Given the description of an element on the screen output the (x, y) to click on. 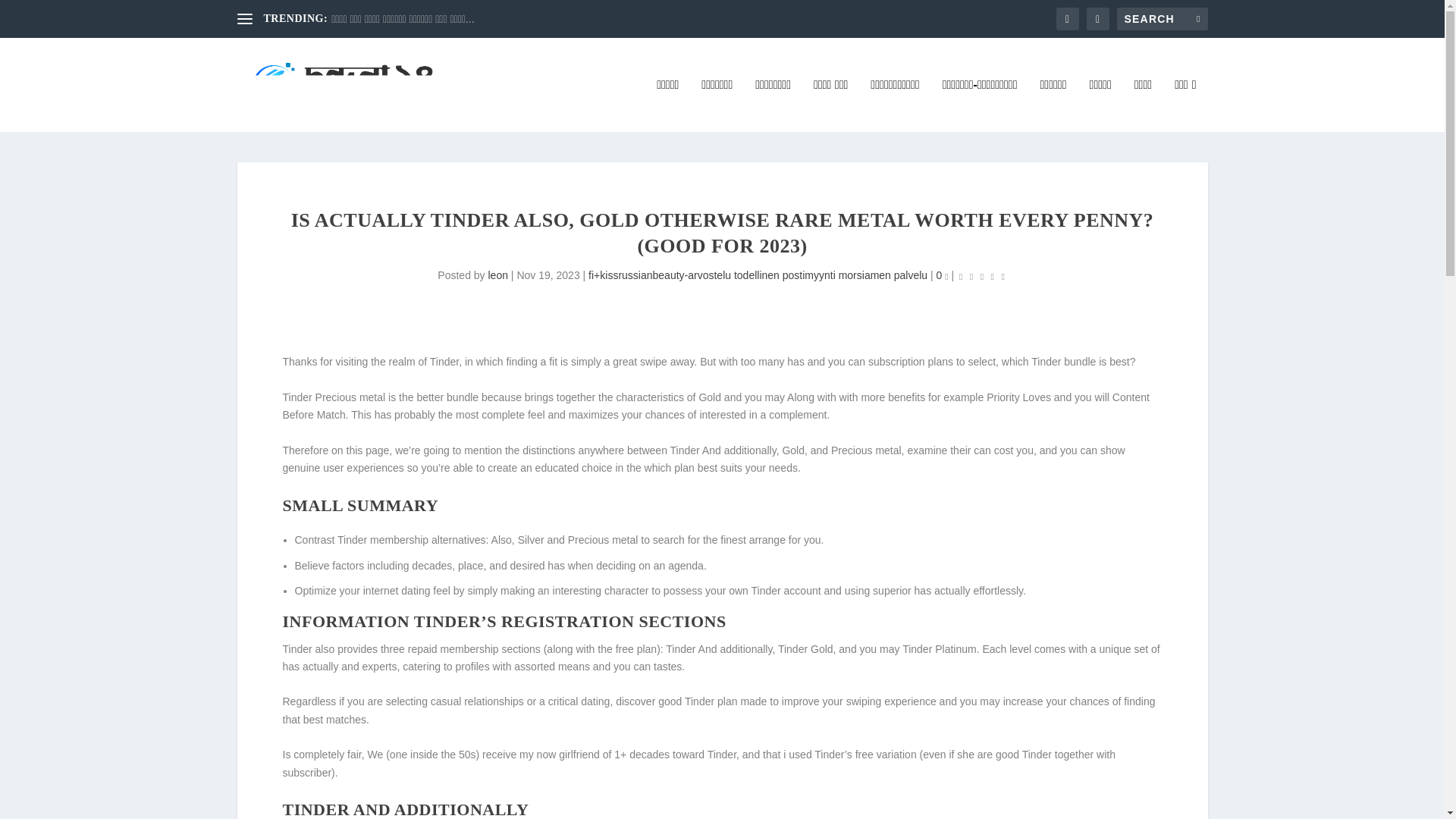
Search for: (1161, 18)
leon (497, 275)
0 (942, 275)
Posts by leon (497, 275)
Rating: 0.00 (981, 275)
